Given the description of an element on the screen output the (x, y) to click on. 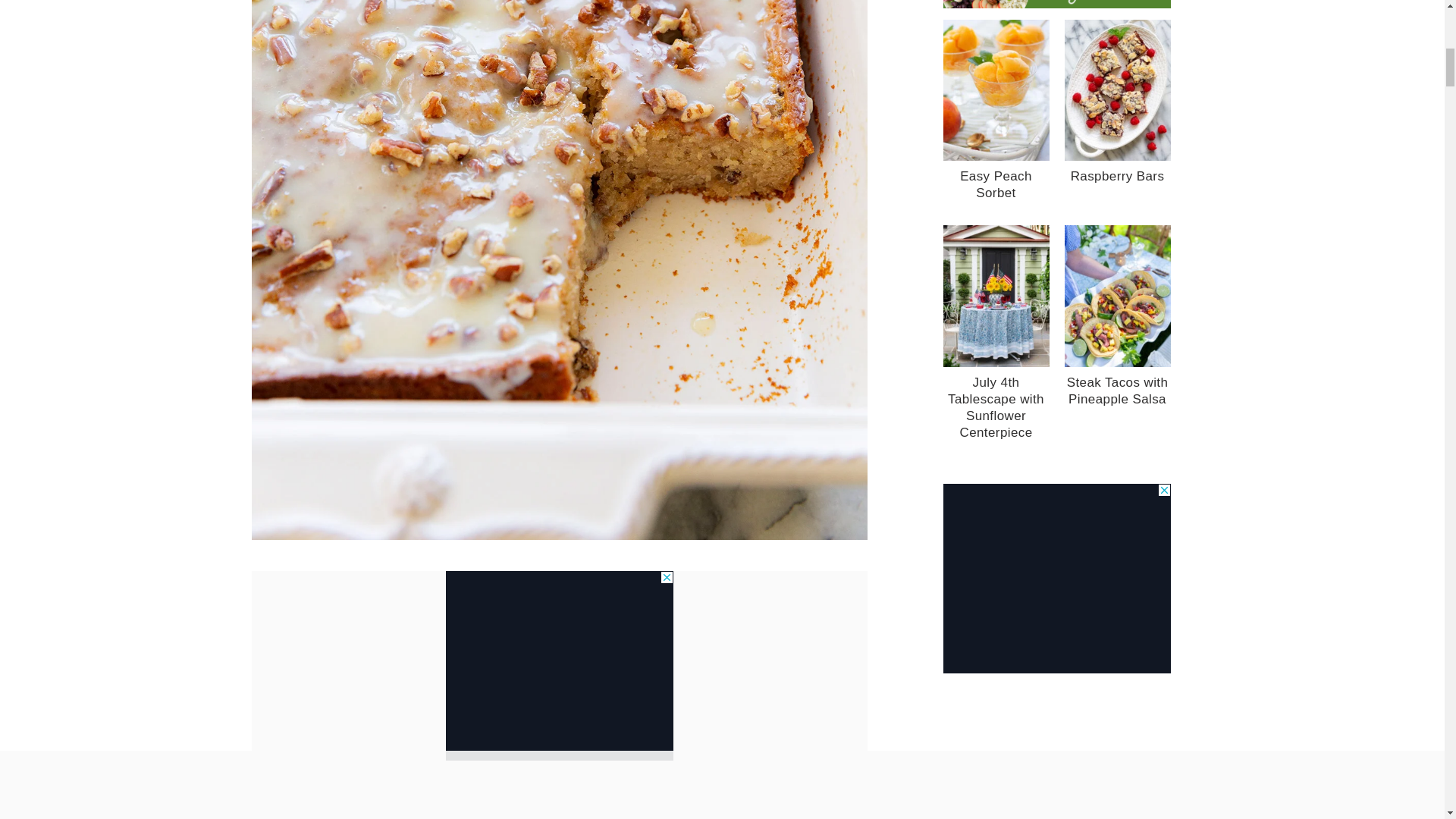
3rd party ad content (1056, 578)
3rd party ad content (558, 665)
